Given the description of an element on the screen output the (x, y) to click on. 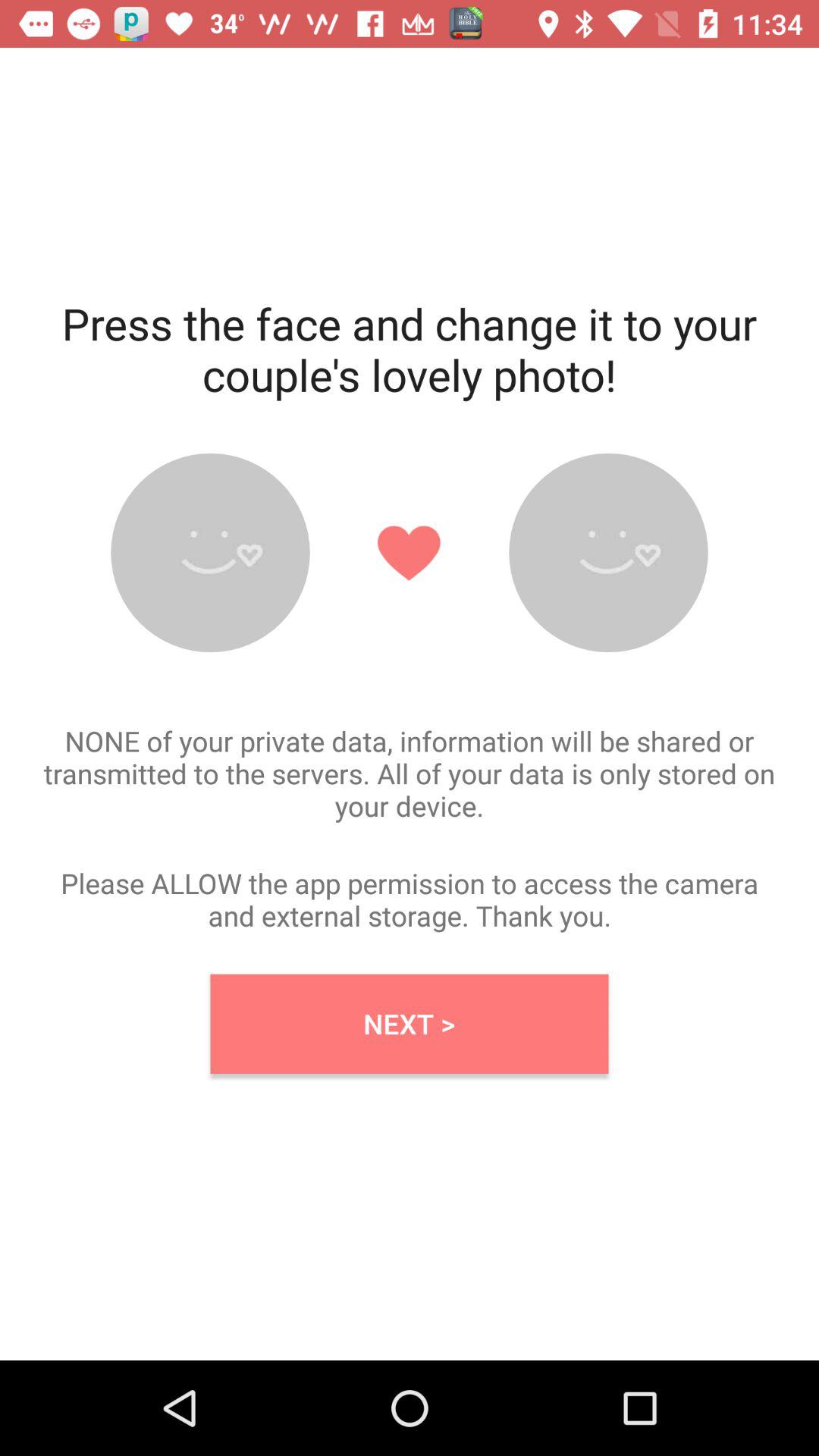
select photo from camera or external storage (209, 552)
